Given the description of an element on the screen output the (x, y) to click on. 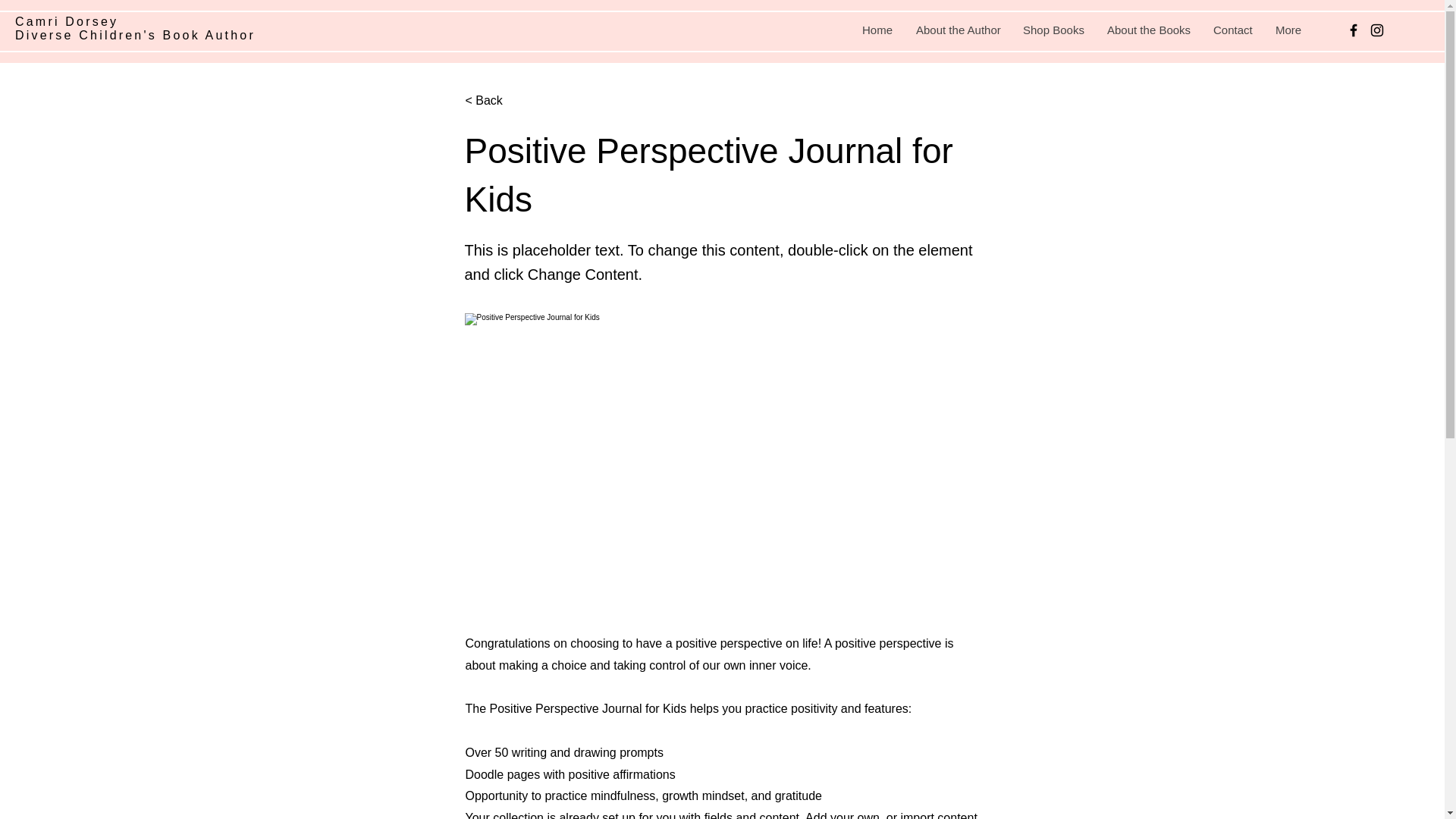
Camri Dorsey (65, 21)
Book Author (209, 34)
Home (877, 29)
Contact (1232, 29)
About the Books (1147, 29)
Diverse Children's (88, 34)
About the Author (957, 29)
Shop Books (1052, 29)
